Given the description of an element on the screen output the (x, y) to click on. 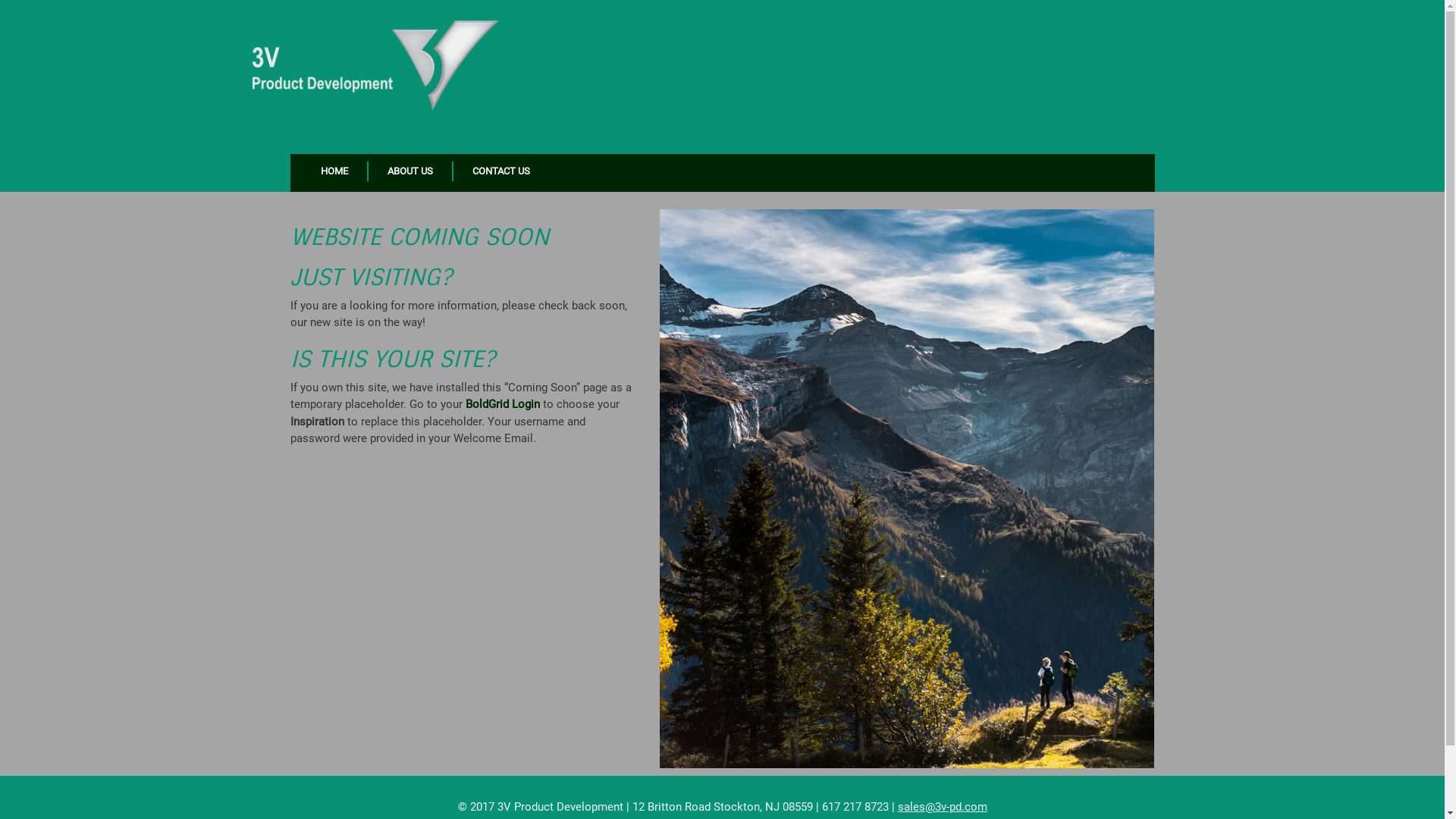
HOME Element type: text (334, 171)
BoldGrid Login Element type: text (502, 404)
CONTACT US Element type: text (501, 171)
ABOUT US Element type: text (410, 171)
sales@3v-pd.com Element type: text (942, 806)
